Given the description of an element on the screen output the (x, y) to click on. 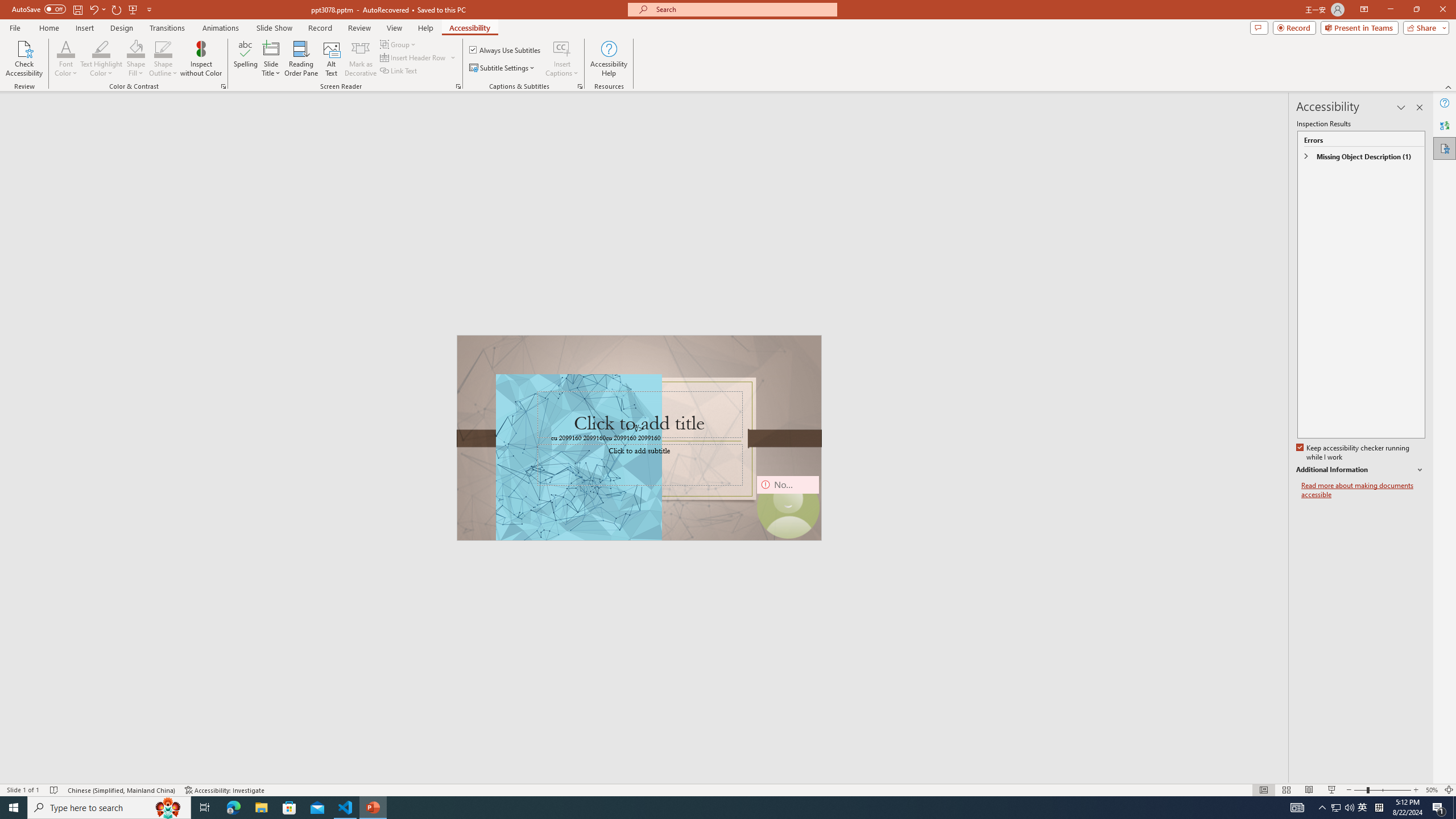
Zoom 50% (1431, 790)
Reading Order Pane (301, 58)
TextBox 7 (635, 428)
Shape Outline (163, 58)
TextBox 61 (638, 438)
Mark as Decorative (360, 58)
